Given the description of an element on the screen output the (x, y) to click on. 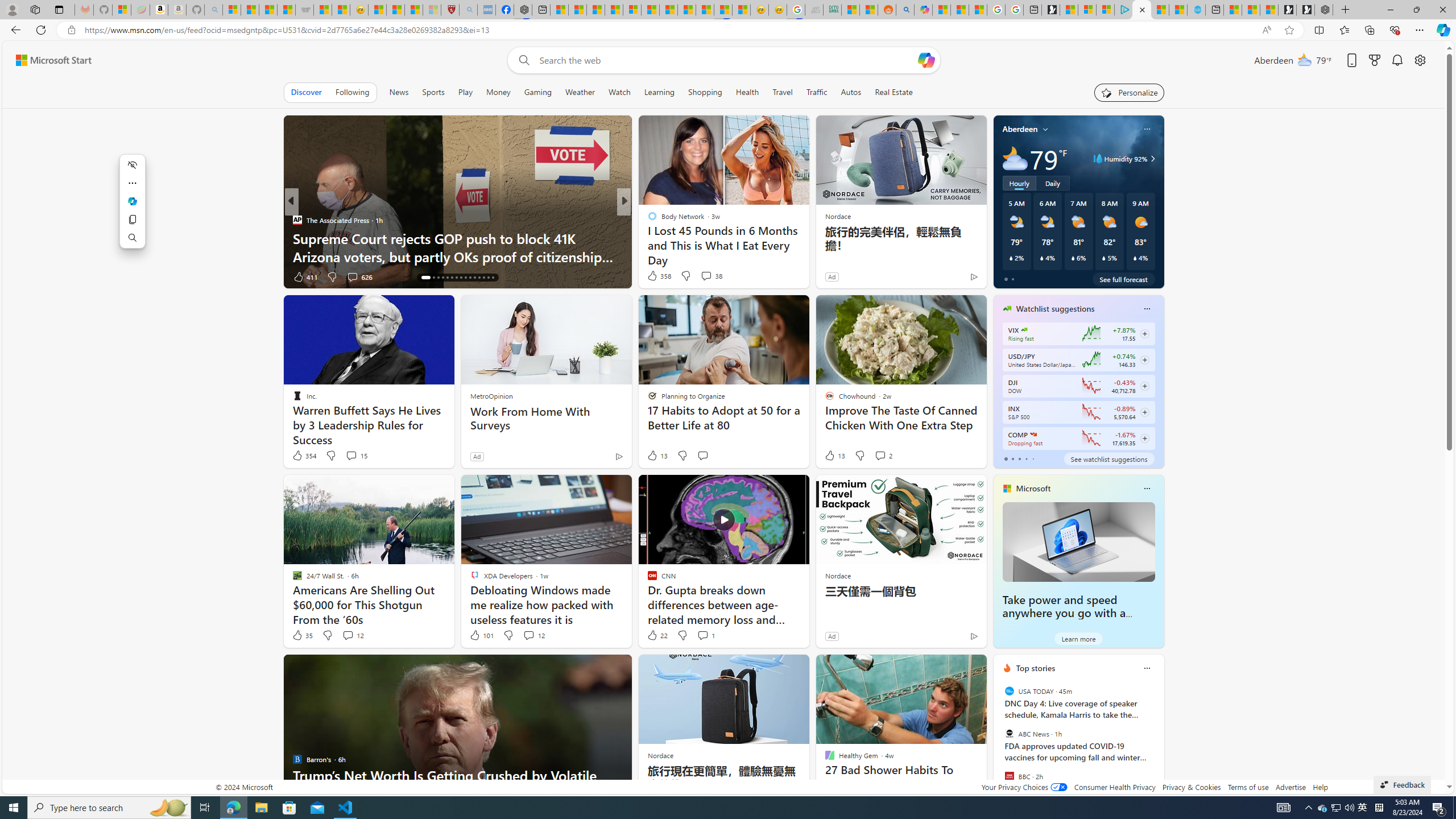
next (1158, 741)
AutomationID: tab-16 (424, 277)
AutomationID: tab-21 (451, 277)
tab-0 (1005, 458)
Deseret News (647, 238)
415 Like (654, 276)
